Given the description of an element on the screen output the (x, y) to click on. 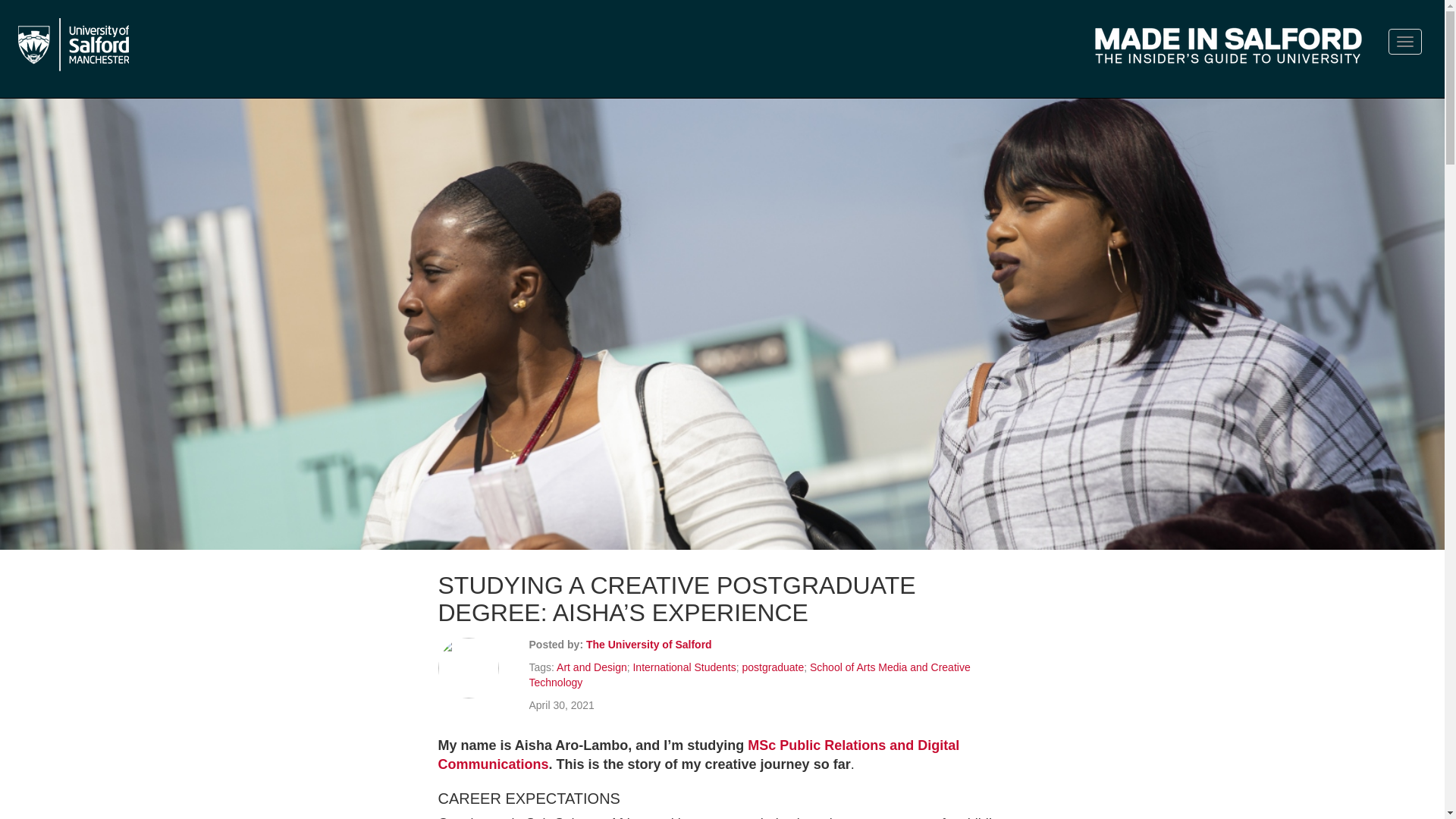
MSc Public Relations and Digital Communications (698, 755)
International Students (683, 666)
Art and Design (591, 666)
Posts by The University of Salford (648, 644)
School of Arts Media and Creative Technology (750, 674)
The University of Salford (648, 644)
postgraduate (772, 666)
